Given the description of an element on the screen output the (x, y) to click on. 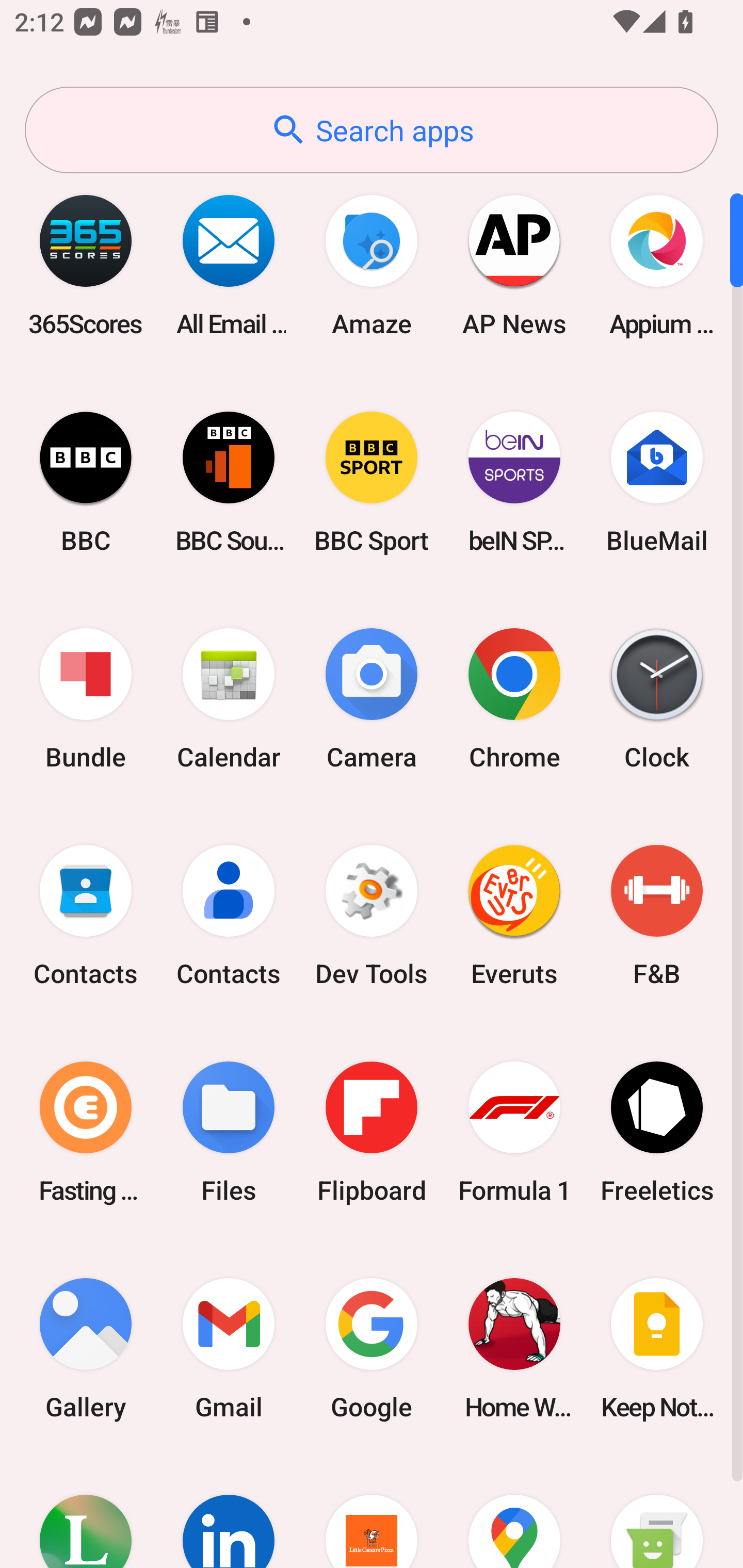
  Search apps (371, 130)
365Scores (85, 264)
All Email Connect (228, 264)
Amaze (371, 264)
AP News (514, 264)
Appium Settings (656, 264)
BBC (85, 482)
BBC Sounds (228, 482)
BBC Sport (371, 482)
beIN SPORTS (514, 482)
BlueMail (656, 482)
Bundle (85, 699)
Calendar (228, 699)
Camera (371, 699)
Chrome (514, 699)
Clock (656, 699)
Contacts (85, 915)
Contacts (228, 915)
Dev Tools (371, 915)
Everuts (514, 915)
F&B (656, 915)
Fasting Coach (85, 1131)
Files (228, 1131)
Flipboard (371, 1131)
Formula 1 (514, 1131)
Freeletics (656, 1131)
Gallery (85, 1348)
Gmail (228, 1348)
Google (371, 1348)
Home Workout (514, 1348)
Keep Notes (656, 1348)
Lifesum (85, 1512)
LinkedIn (228, 1512)
Little Caesars Pizza (371, 1512)
Maps (514, 1512)
Messaging (656, 1512)
